Given the description of an element on the screen output the (x, y) to click on. 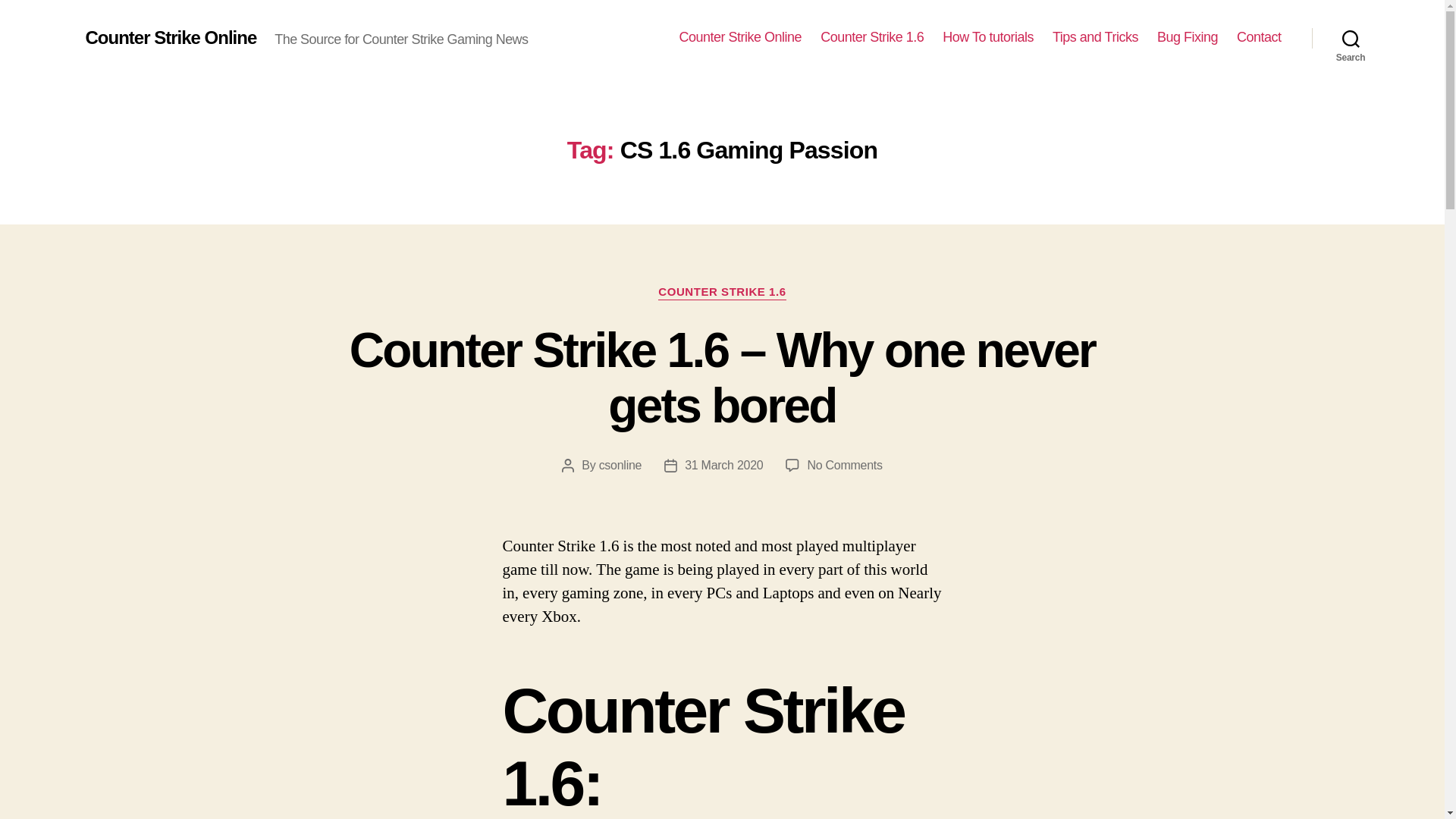
31 March 2020 (723, 464)
How To tutorials (987, 37)
Bug Fixing (1187, 37)
Search (1350, 37)
Counter Strike 1.6 (872, 37)
Tips and Tricks (1095, 37)
Counter Strike Online (170, 37)
csonline (620, 464)
COUNTER STRIKE 1.6 (722, 292)
Counter Strike Online (740, 37)
